Given the description of an element on the screen output the (x, y) to click on. 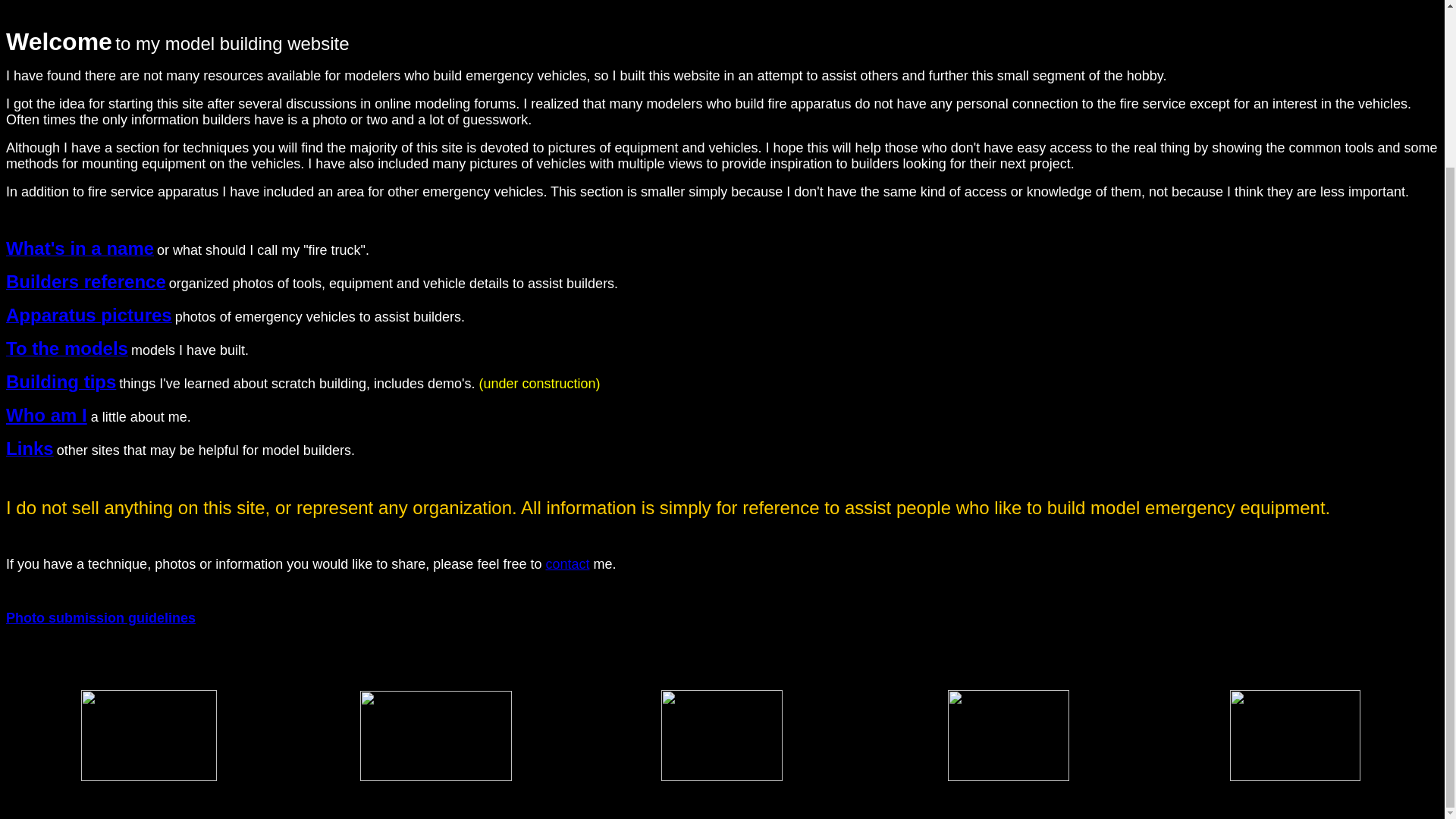
Links (29, 450)
Builders reference (85, 283)
Apparatus pictures (88, 317)
What's in a name (79, 250)
To the models (66, 350)
Building tips (60, 383)
Who am I (46, 414)
contact (566, 563)
Photo submission guidelines (100, 617)
